Given the description of an element on the screen output the (x, y) to click on. 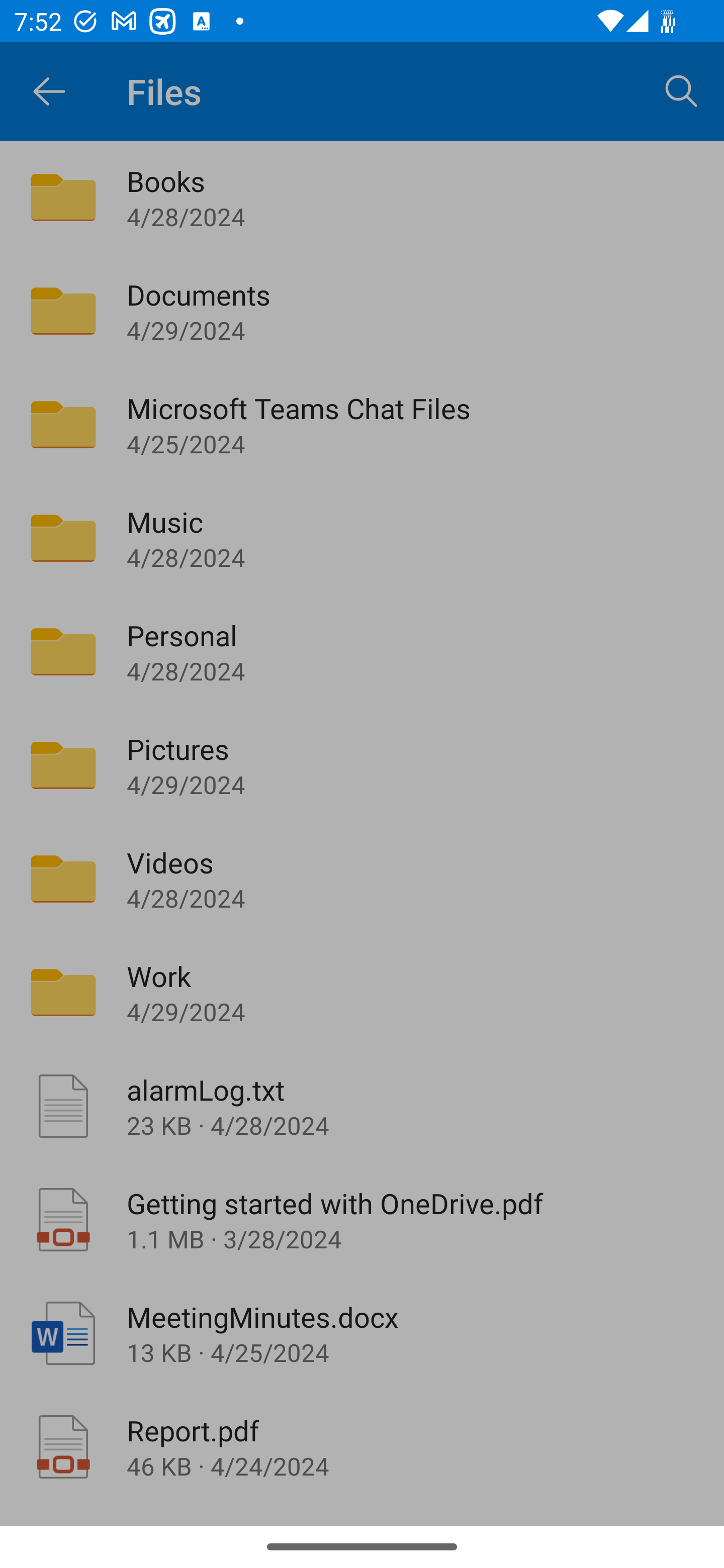
Navigate up (49, 91)
Search (681, 90)
Books 4/28/2024 (362, 197)
Documents 4/29/2024 (362, 311)
Microsoft Teams Chat Files 4/25/2024 (362, 424)
Music 4/28/2024 (362, 537)
Personal 4/28/2024 (362, 651)
Pictures 4/29/2024 (362, 764)
Videos 4/28/2024 (362, 878)
Work 4/29/2024 (362, 992)
alarmLog.txt 23 KB · 4/28/2024 (362, 1105)
MeetingMinutes.docx 13 KB · 4/25/2024 (362, 1333)
Report.pdf 46 KB · 4/24/2024 (362, 1446)
